Given the description of an element on the screen output the (x, y) to click on. 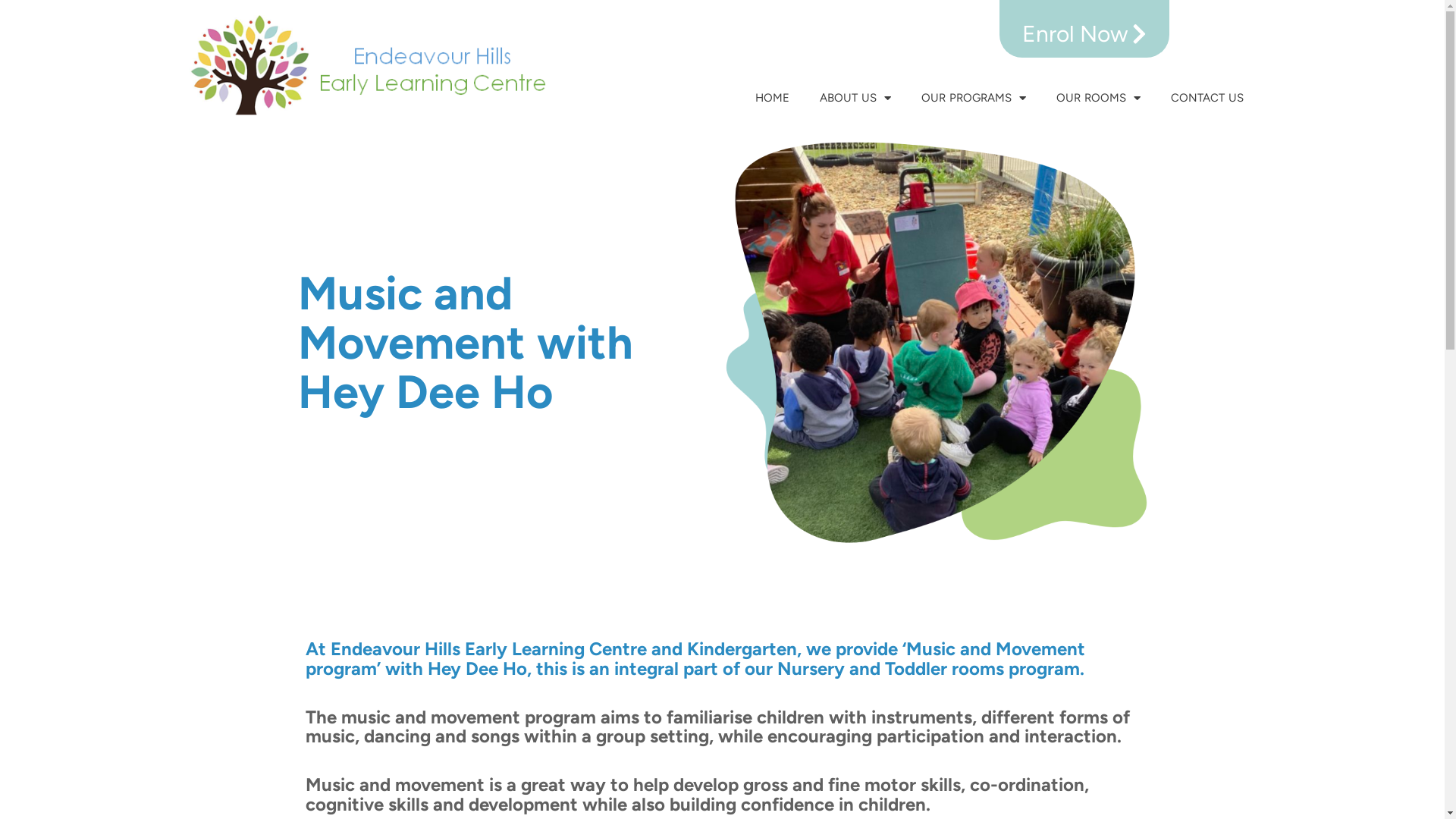
HOME Element type: text (772, 97)
CONTACT US Element type: text (1206, 97)
ABOUT US Element type: text (855, 97)
Enrol Now Element type: text (1084, 28)
OUR ROOMS Element type: text (1098, 97)
OUR PROGRAMS Element type: text (973, 97)
